Given the description of an element on the screen output the (x, y) to click on. 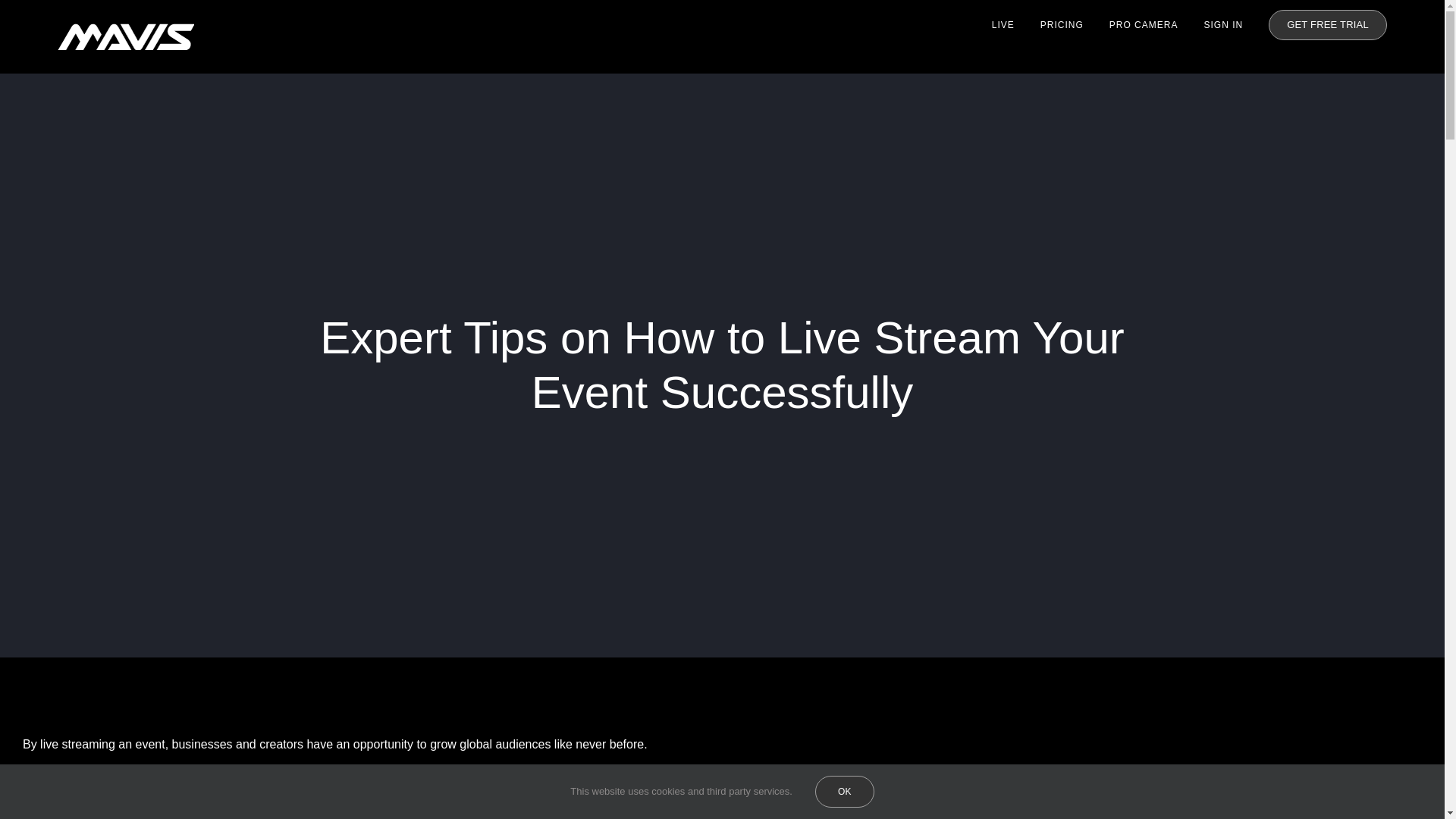
OK (845, 791)
GET FREE TRIAL (1327, 24)
PRO CAMERA (1143, 24)
